Given the description of an element on the screen output the (x, y) to click on. 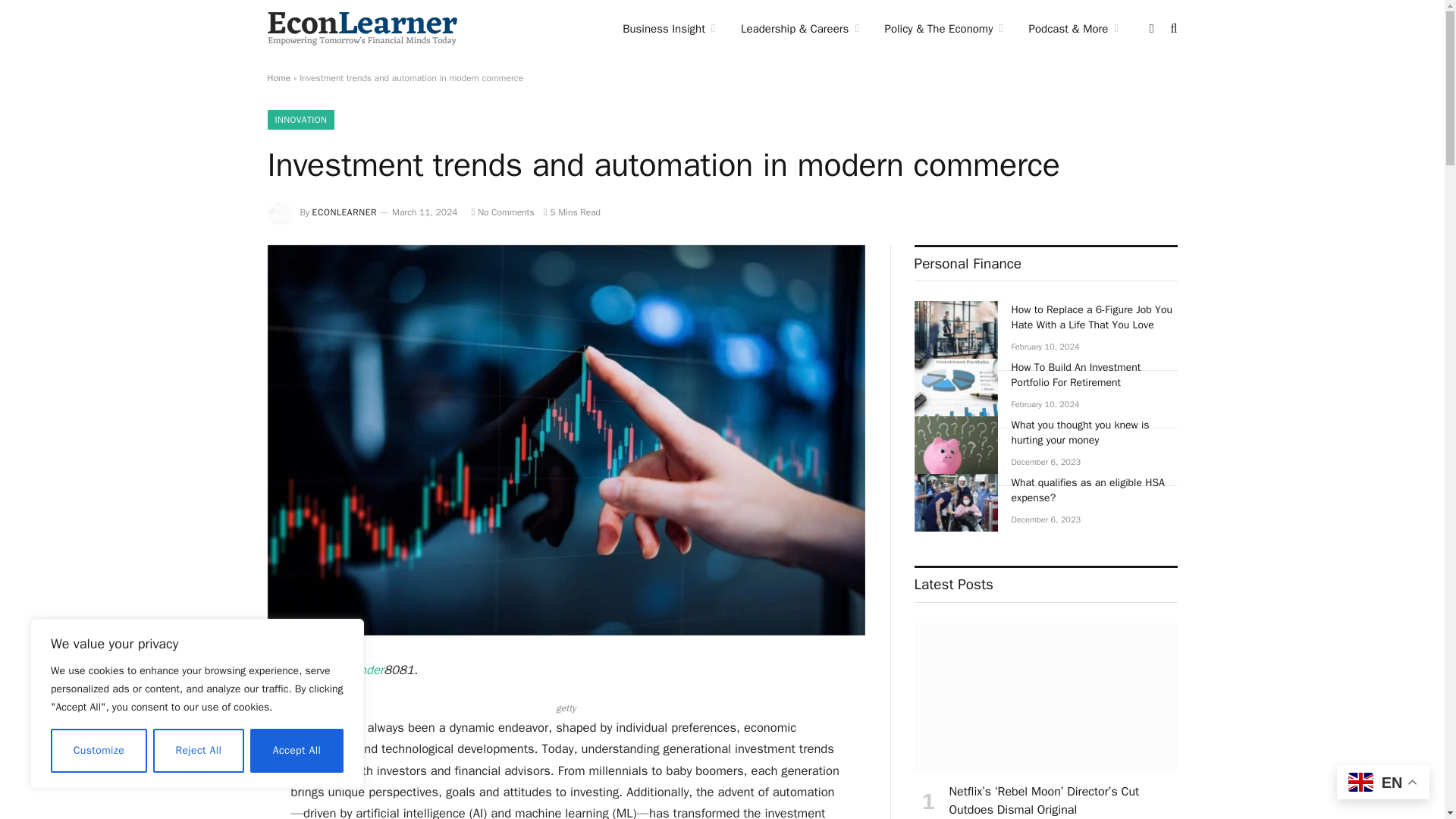
Customize (98, 750)
Switch to Dark Design - easier on eyes. (1151, 28)
EconLearner (361, 28)
Reject All (198, 750)
Posts by EconLearner (345, 212)
Accept All (296, 750)
